Given the description of an element on the screen output the (x, y) to click on. 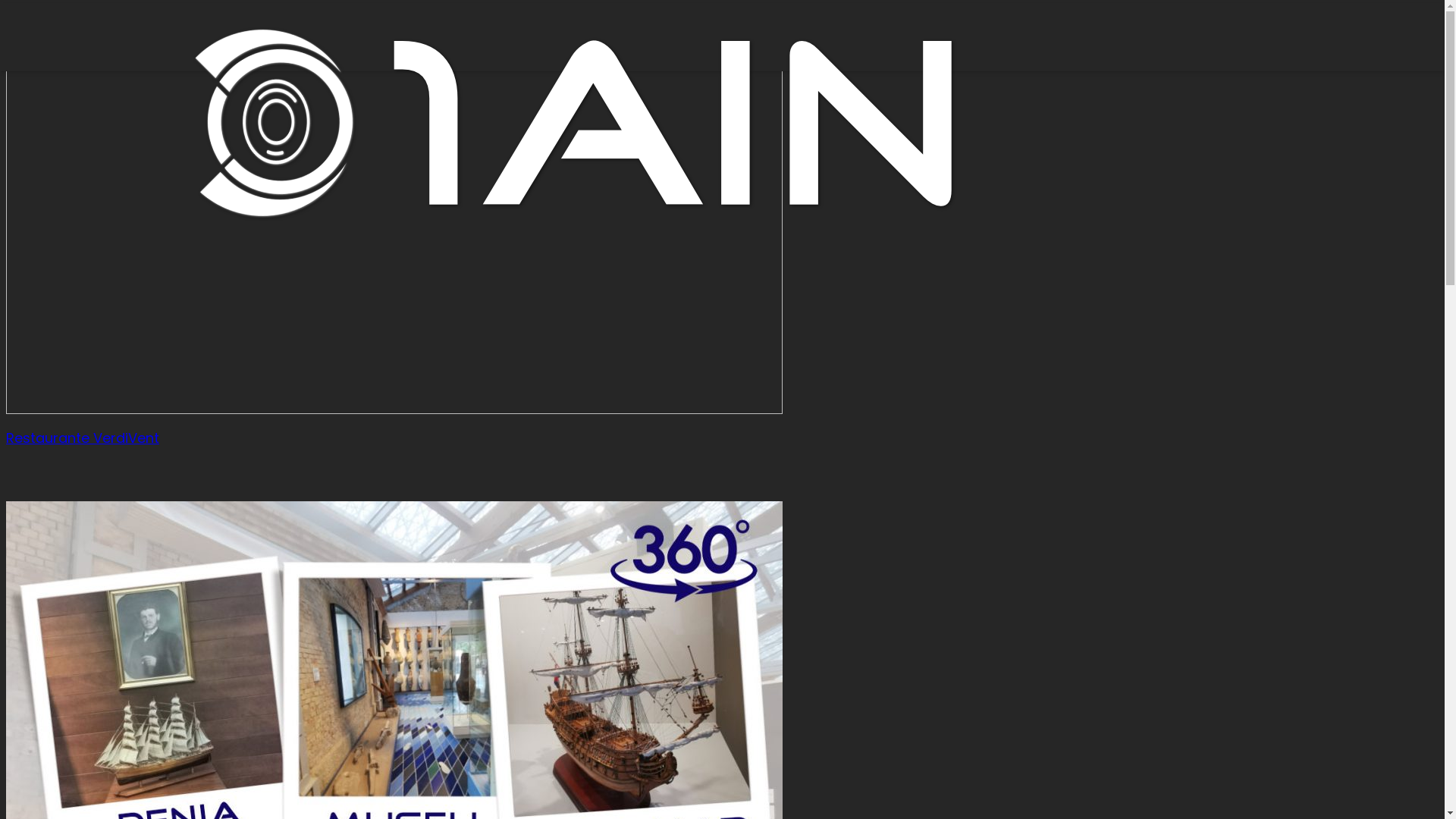
Restaurante VerdiVent Element type: text (82, 437)
